Given the description of an element on the screen output the (x, y) to click on. 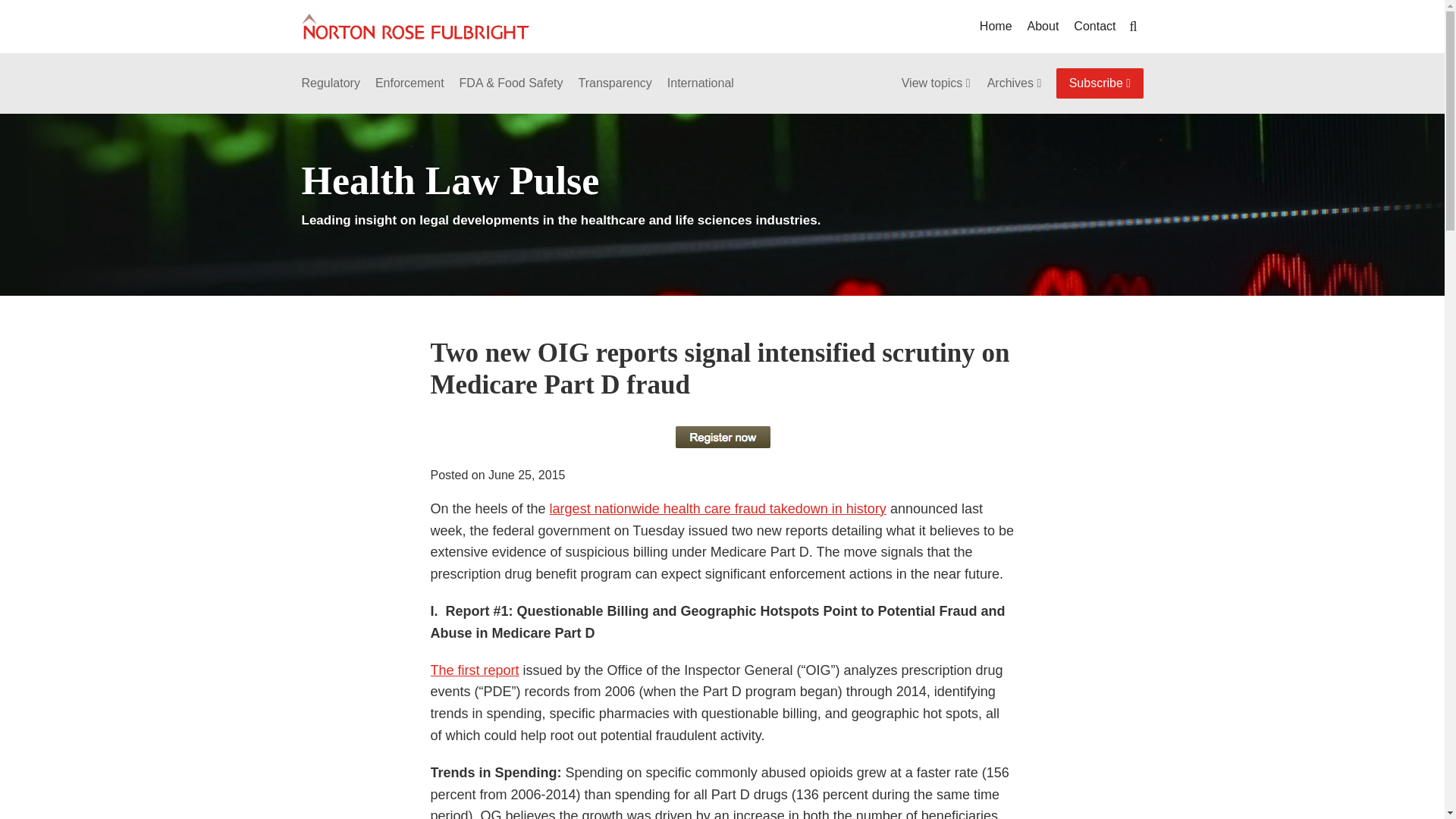
Contact (1094, 26)
Archives (1015, 83)
OIG Report (474, 670)
View topics (936, 83)
Home (995, 26)
Regulatory (330, 83)
Transparency (615, 83)
Health law pulse (718, 508)
largest nationwide health care fraud takedown in history (718, 508)
International (699, 83)
Enforcement (409, 83)
About (1043, 26)
Subscribe (1099, 82)
Health Law Pulse (450, 180)
The first report (474, 670)
